Given the description of an element on the screen output the (x, y) to click on. 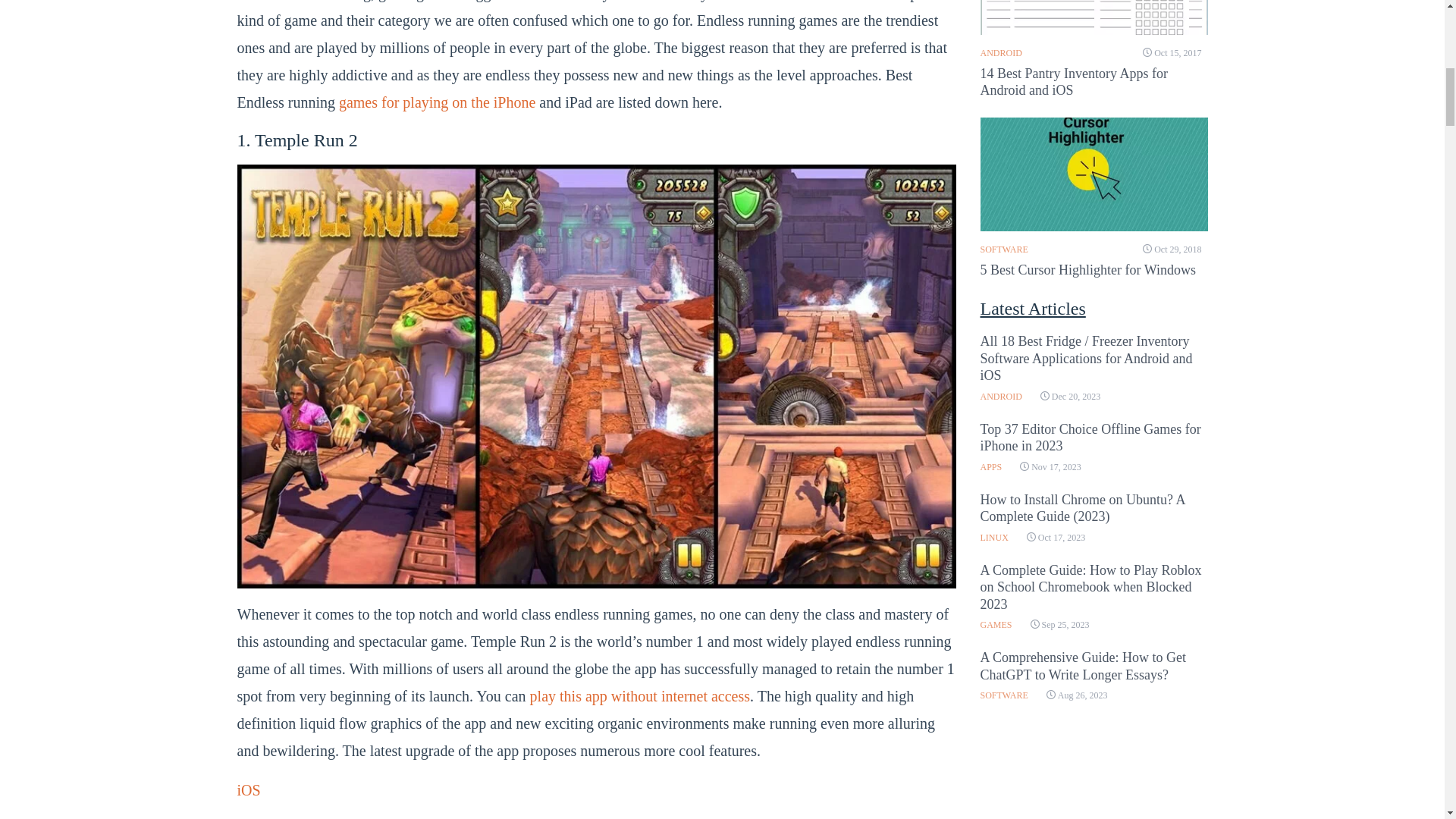
games for playing on the iPhone (437, 102)
play this app without internet access (639, 695)
iOS (247, 790)
